Given the description of an element on the screen output the (x, y) to click on. 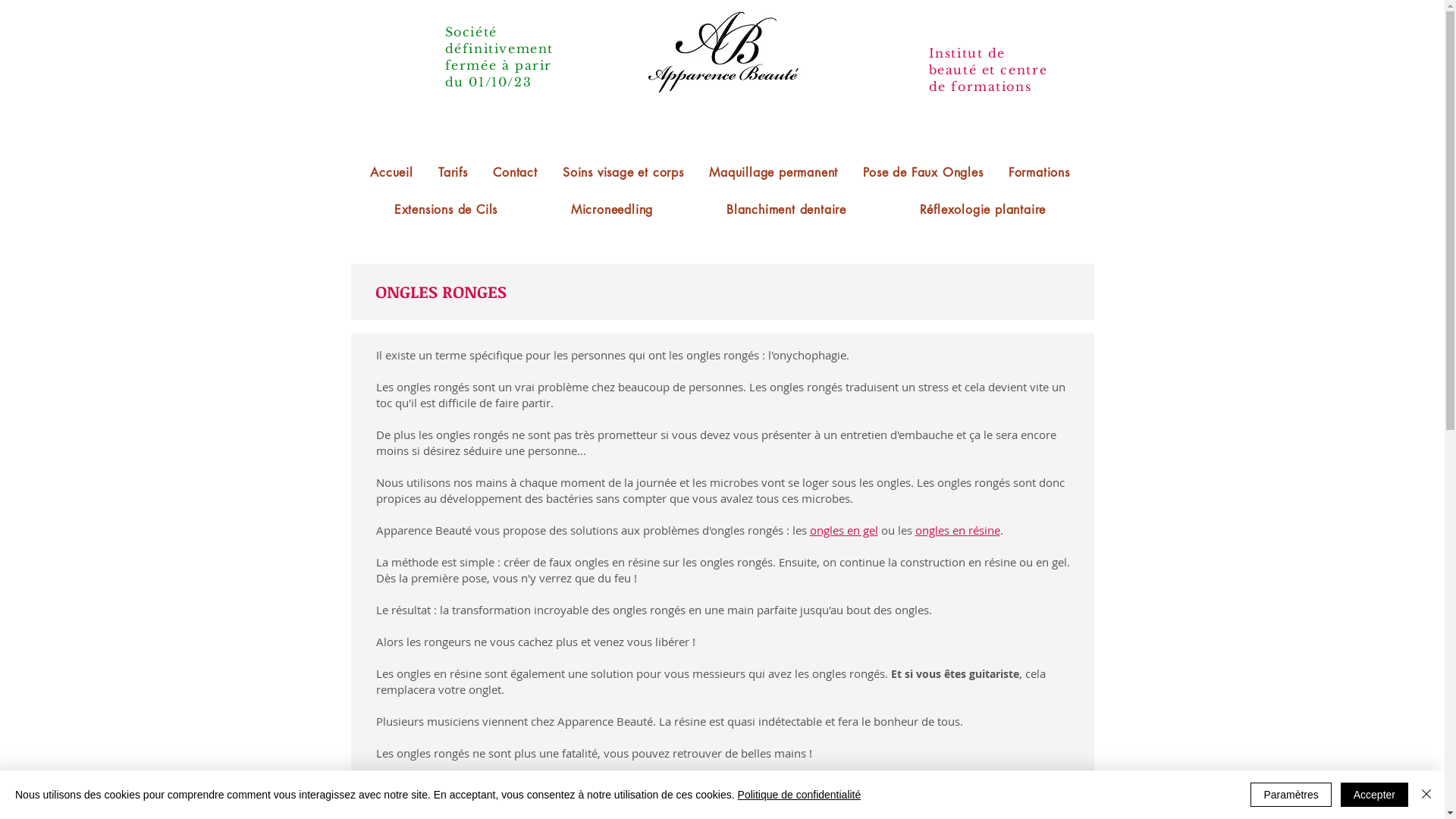
Accepter Element type: text (1374, 794)
Accueil Element type: text (391, 172)
Pose de Faux Ongles Element type: text (922, 172)
Extensions de Cils Element type: text (445, 209)
Blanchiment dentaire Element type: text (786, 209)
Formations Element type: text (1038, 172)
Maquillage permanent Element type: text (773, 172)
Contact Element type: text (514, 172)
Soins visage et corps Element type: text (622, 172)
Tarifs Element type: text (452, 172)
ongles en gel Element type: text (843, 529)
Microneedling Element type: text (612, 209)
